Given the description of an element on the screen output the (x, y) to click on. 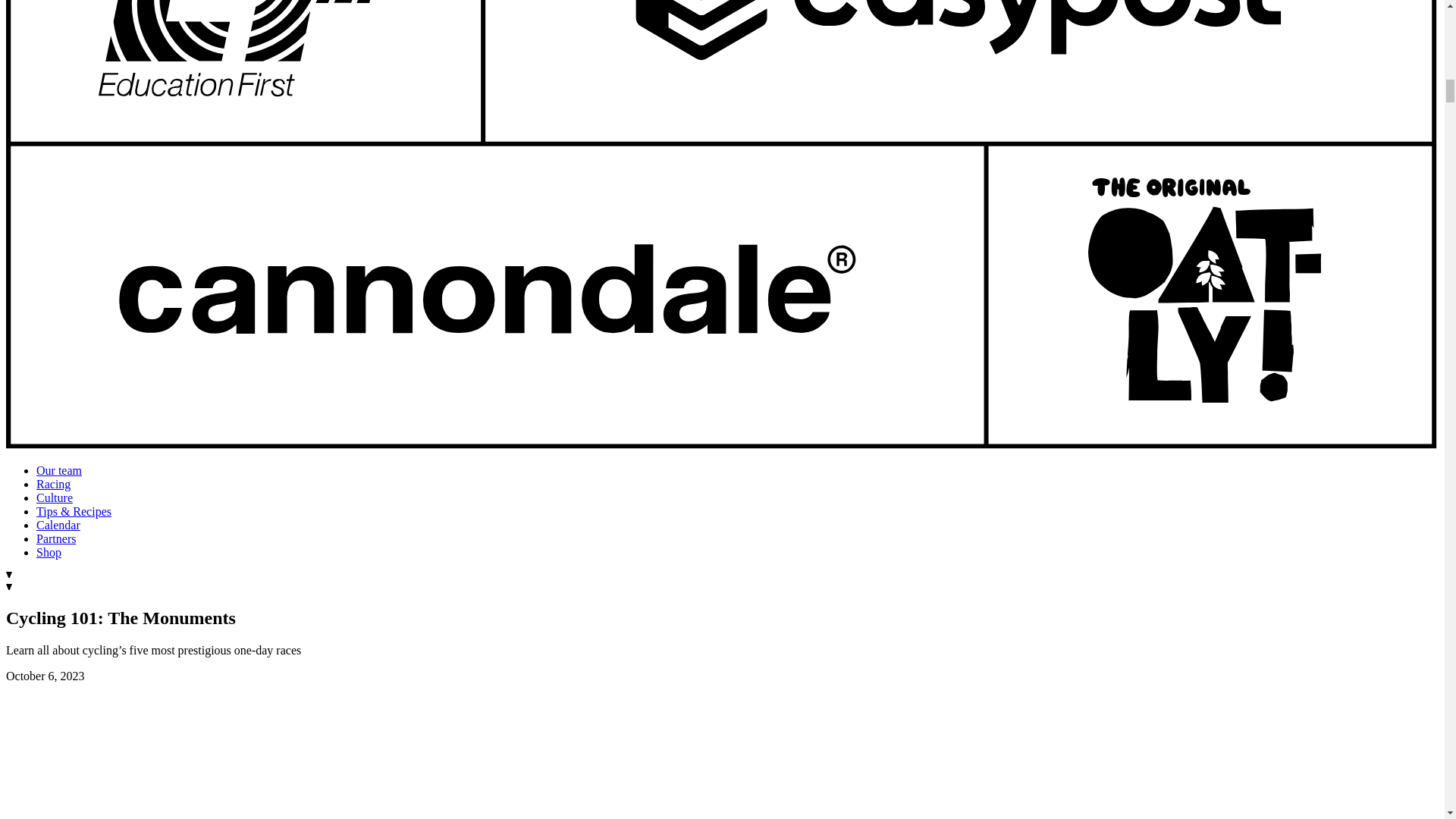
Partners (55, 538)
Calendar (58, 524)
Racing (52, 483)
Shop (48, 552)
Our team (58, 470)
Culture (54, 497)
